Given the description of an element on the screen output the (x, y) to click on. 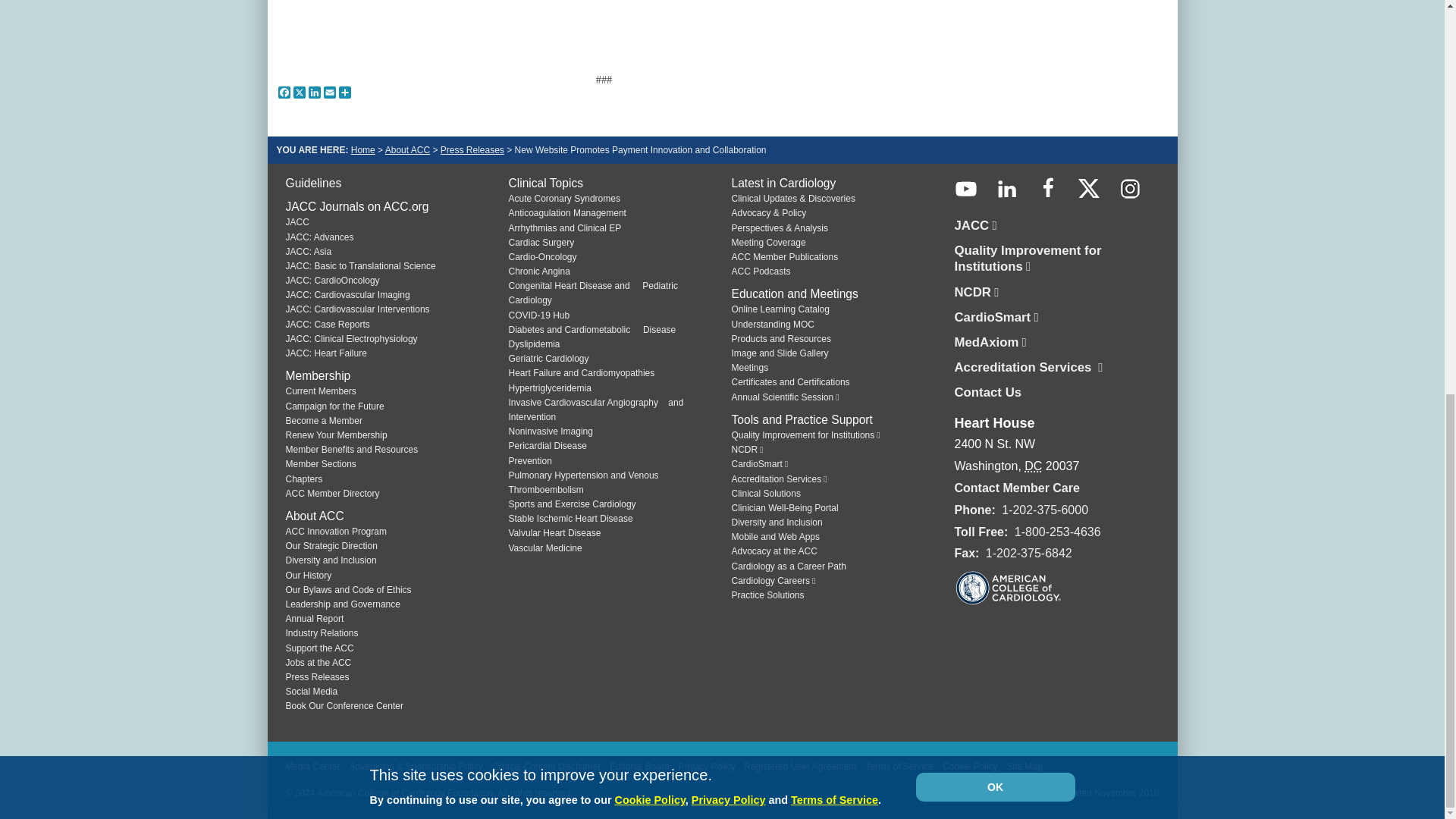
JACC: Cardiovascular Interventions (357, 308)
Guidelines (312, 182)
JACC Asia (308, 251)
JACC: Advances (319, 236)
JACC: Cardiovascular Imaging (347, 294)
